Given the description of an element on the screen output the (x, y) to click on. 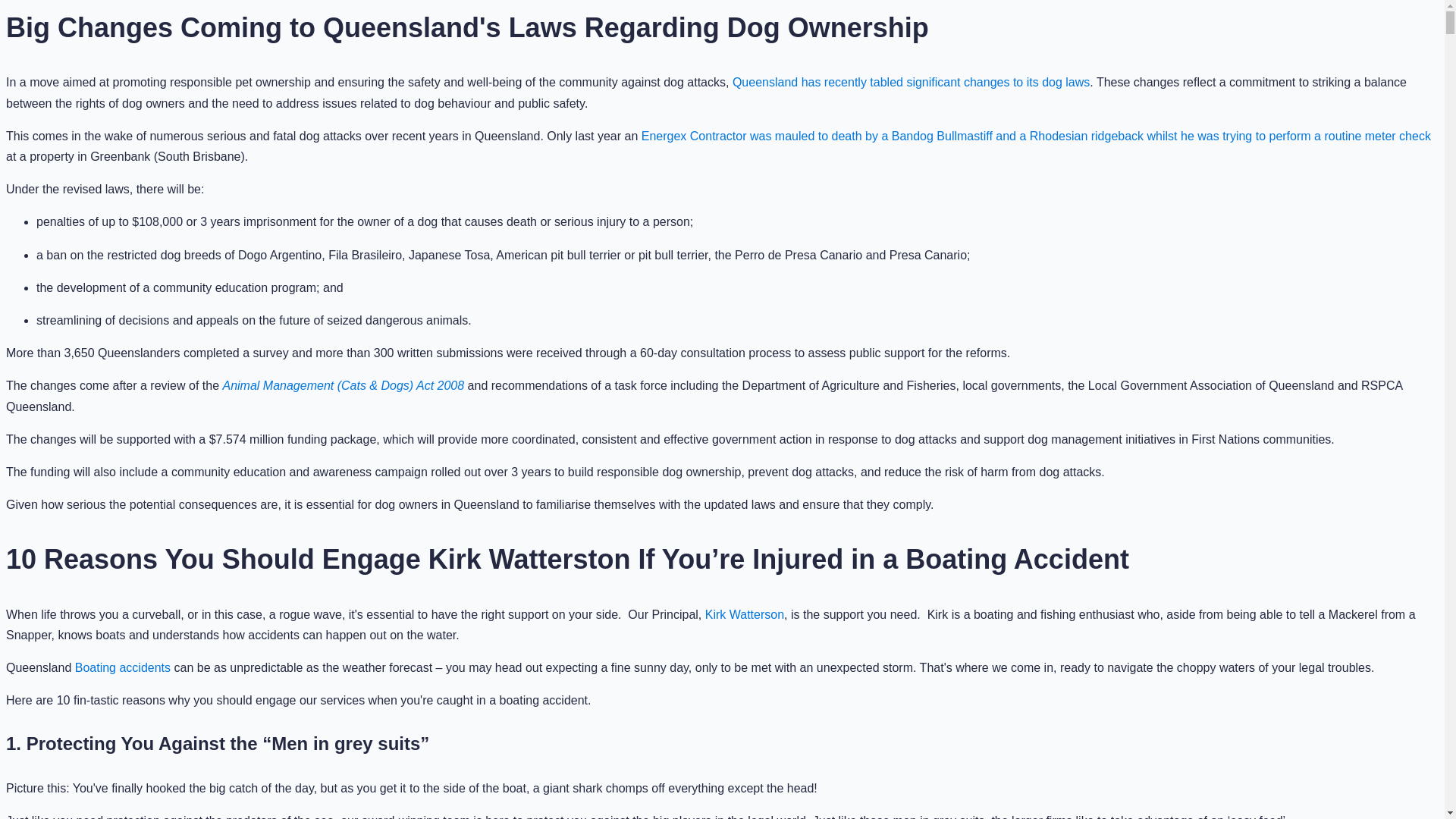
Boating accidents Element type: text (122, 667)
Kirk Watterson Element type: text (744, 614)
Animal Management (Cats & Dogs) Act 2008 Element type: text (343, 385)
